Given the description of an element on the screen output the (x, y) to click on. 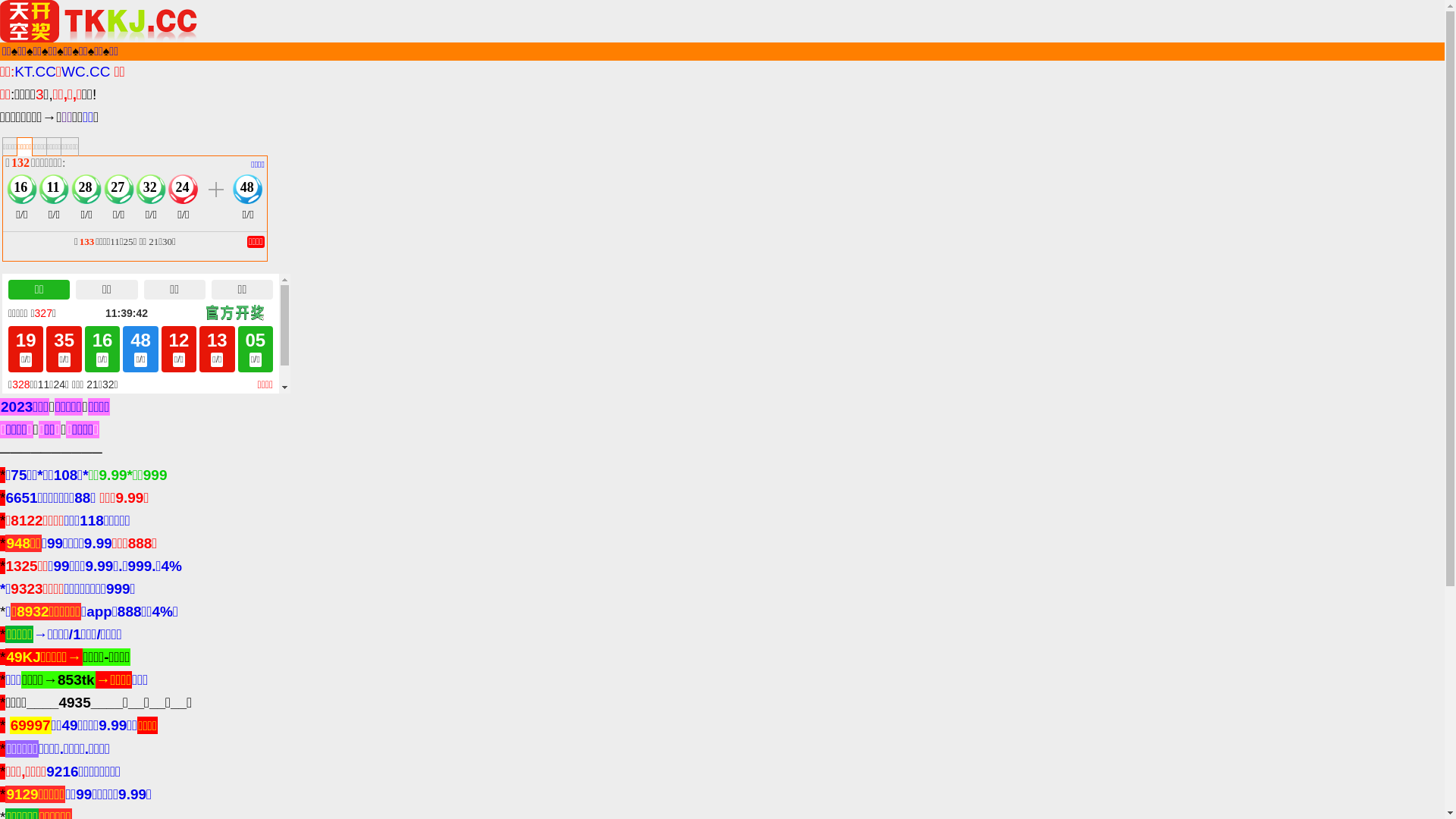
WC.CC Element type: text (85, 71)
KT.CC Element type: text (35, 71)
